Given the description of an element on the screen output the (x, y) to click on. 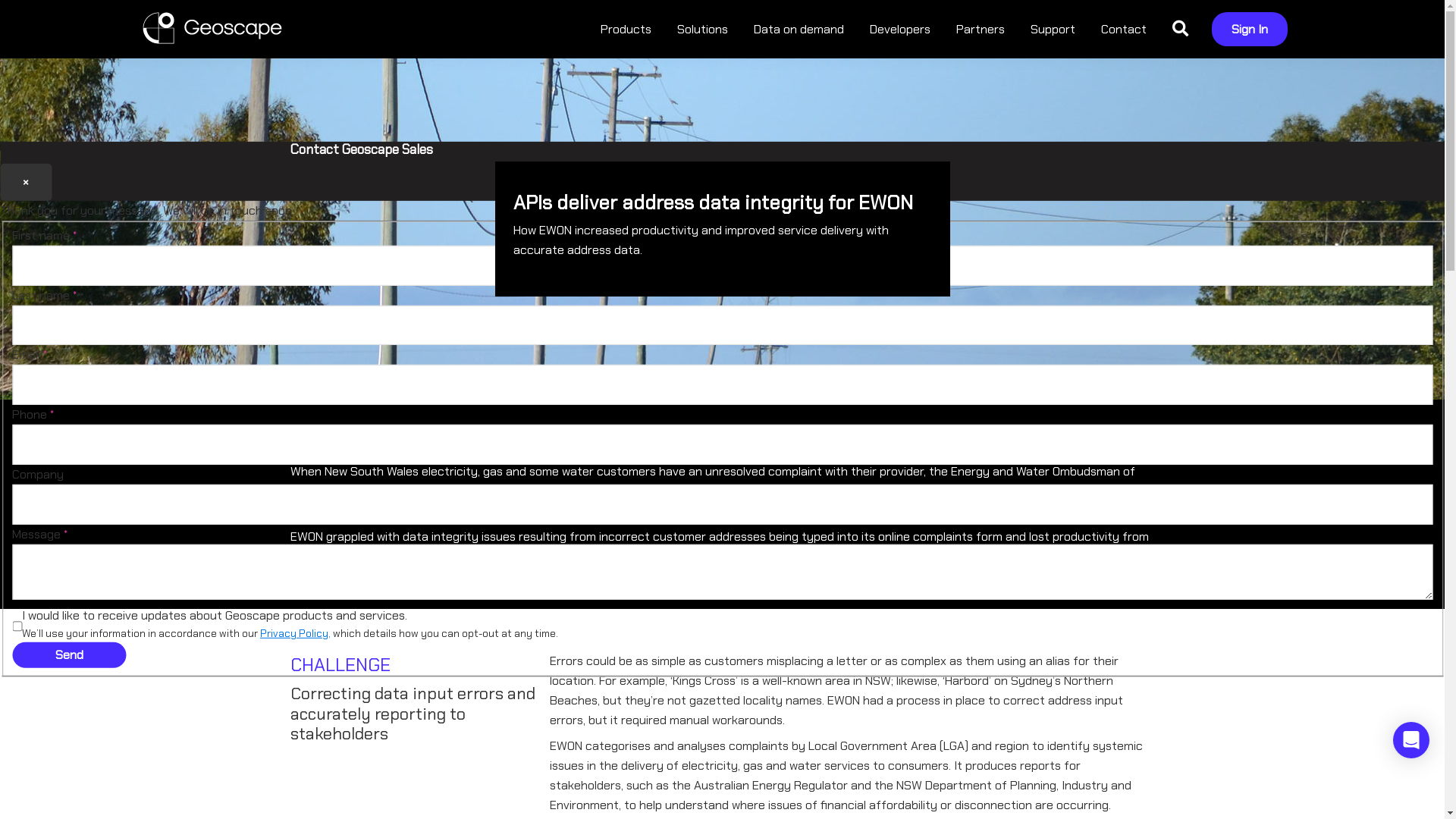
Search Element type: text (1180, 29)
Send Element type: text (68, 655)
Contact Element type: text (1123, 29)
Support Element type: text (1052, 29)
Partners Element type: text (980, 29)
Sign In Element type: text (1249, 29)
Skip to primary navigation Element type: text (0, 0)
Privacy Policy, Element type: text (295, 633)
Solutions Element type: text (702, 29)
Developers Element type: text (899, 29)
Data on demand Element type: text (798, 29)
Products Element type: text (625, 29)
